Given the description of an element on the screen output the (x, y) to click on. 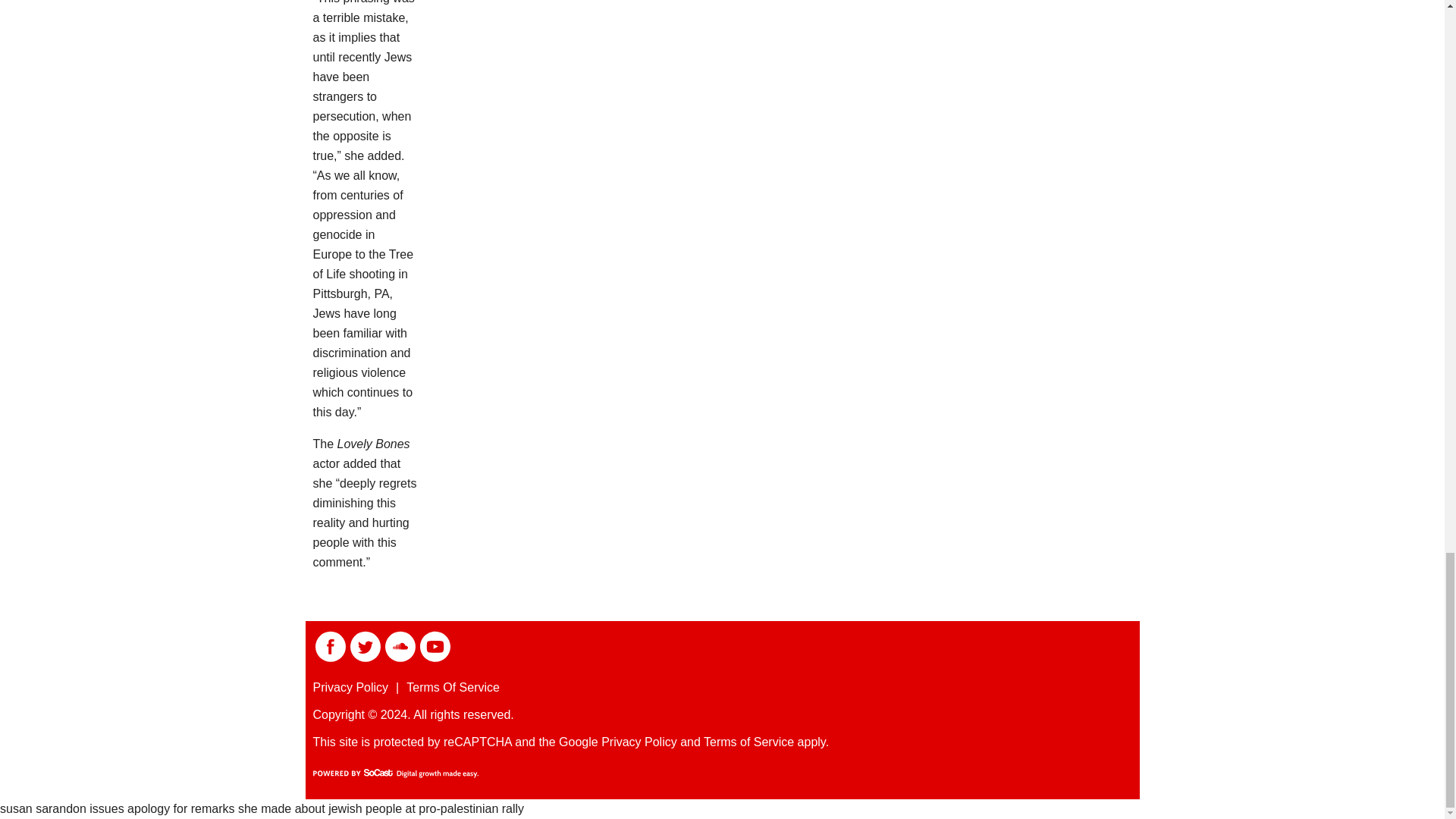
Powered By SoCast (395, 773)
